Given the description of an element on the screen output the (x, y) to click on. 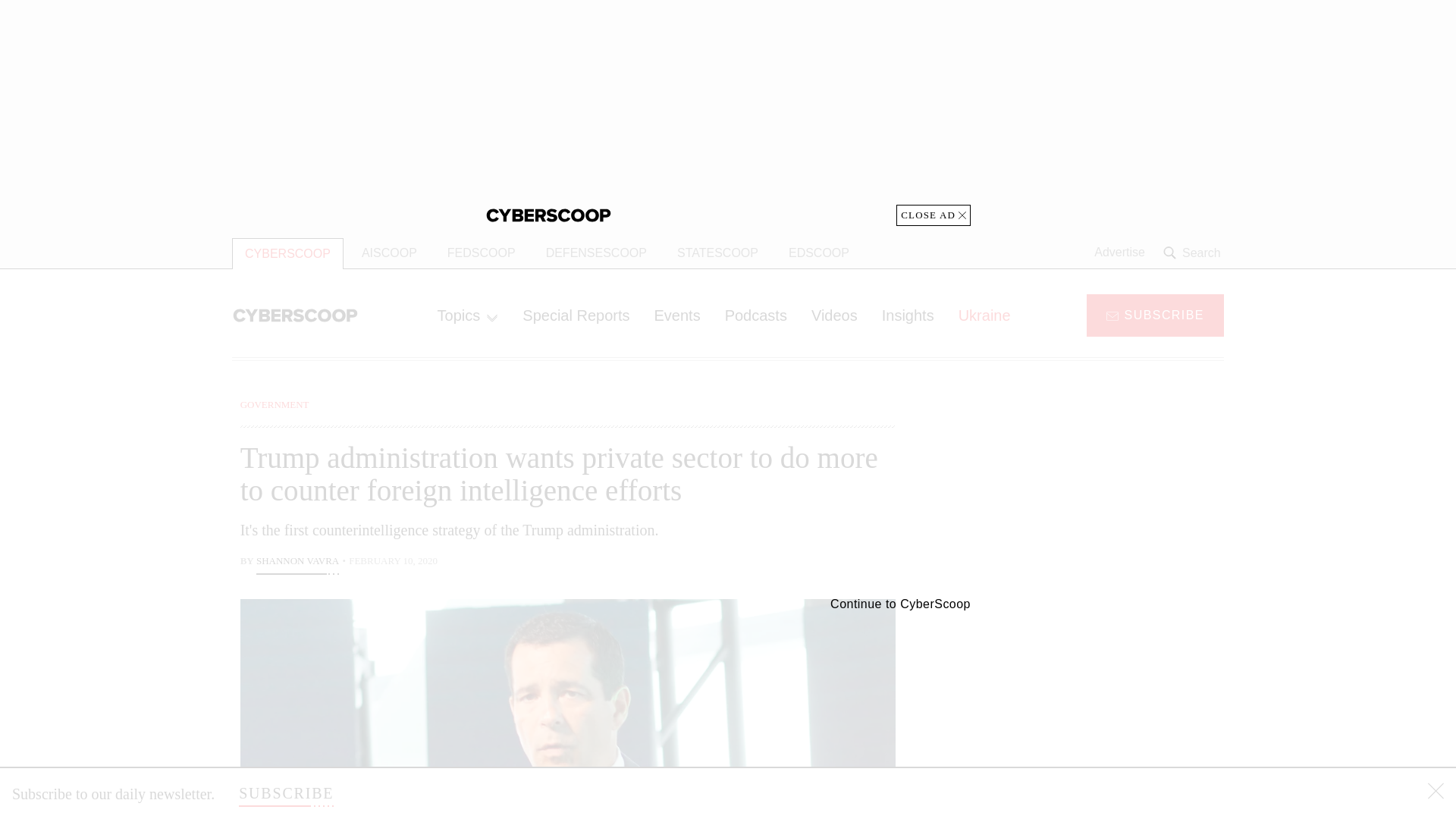
Podcasts (756, 315)
Topics (468, 315)
Events (676, 315)
Ukraine (984, 315)
AISCOOP (389, 253)
FEDSCOOP (481, 253)
SUBSCRIBE (1155, 314)
Advertise (1119, 252)
STATESCOOP (717, 253)
Special Reports (576, 315)
CYBERSCOOP (287, 253)
Search (1193, 252)
3rd party ad content (1101, 705)
